Given the description of an element on the screen output the (x, y) to click on. 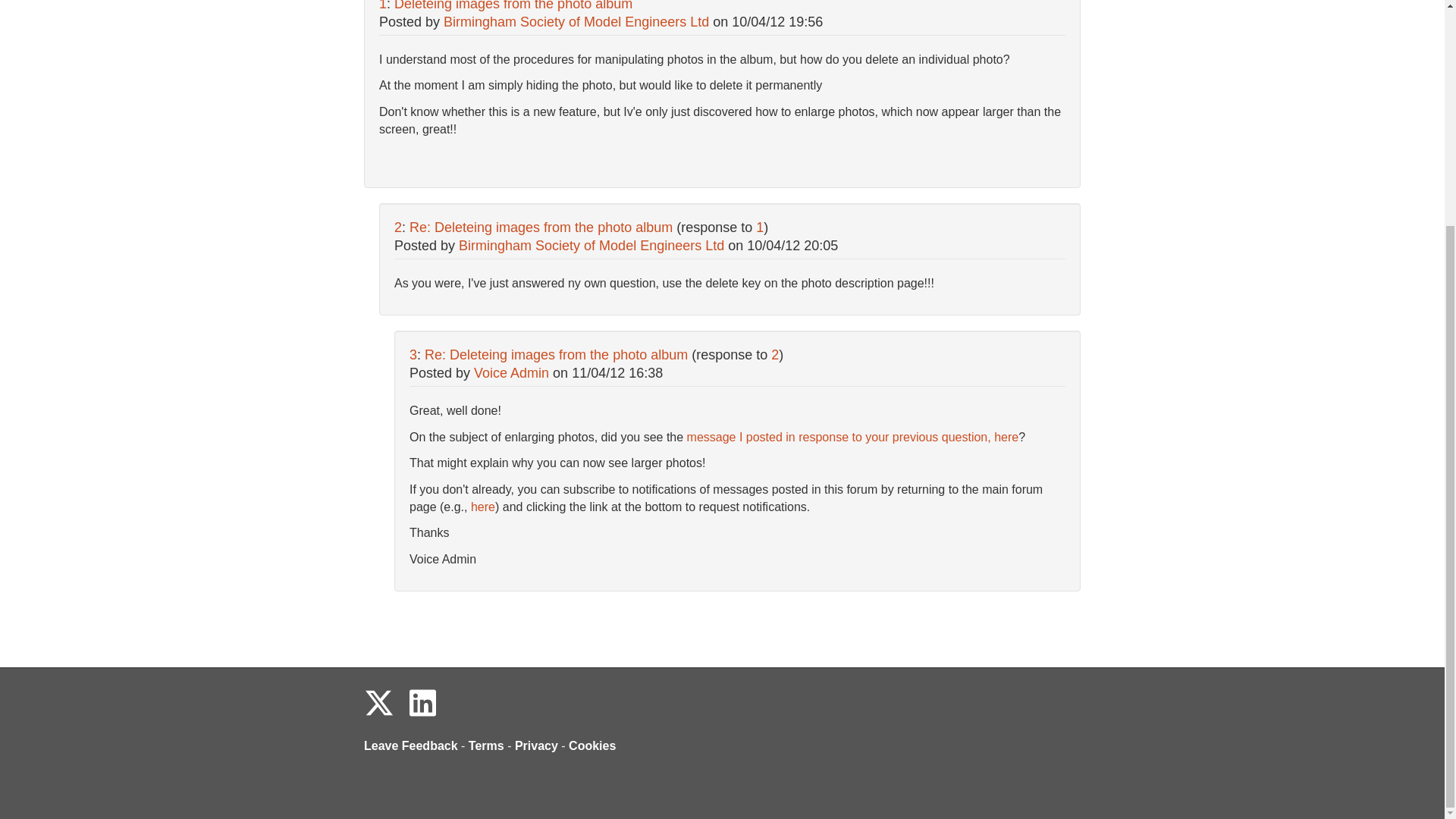
Link to this post on a separate page (540, 227)
Birmingham Society of Model Engineers Ltd (576, 21)
Link to this post on a separate page (512, 5)
Deleteing images from the photo album (512, 5)
Link to this post on a separate page (556, 354)
Re: Deleteing images from the photo album (540, 227)
